Given the description of an element on the screen output the (x, y) to click on. 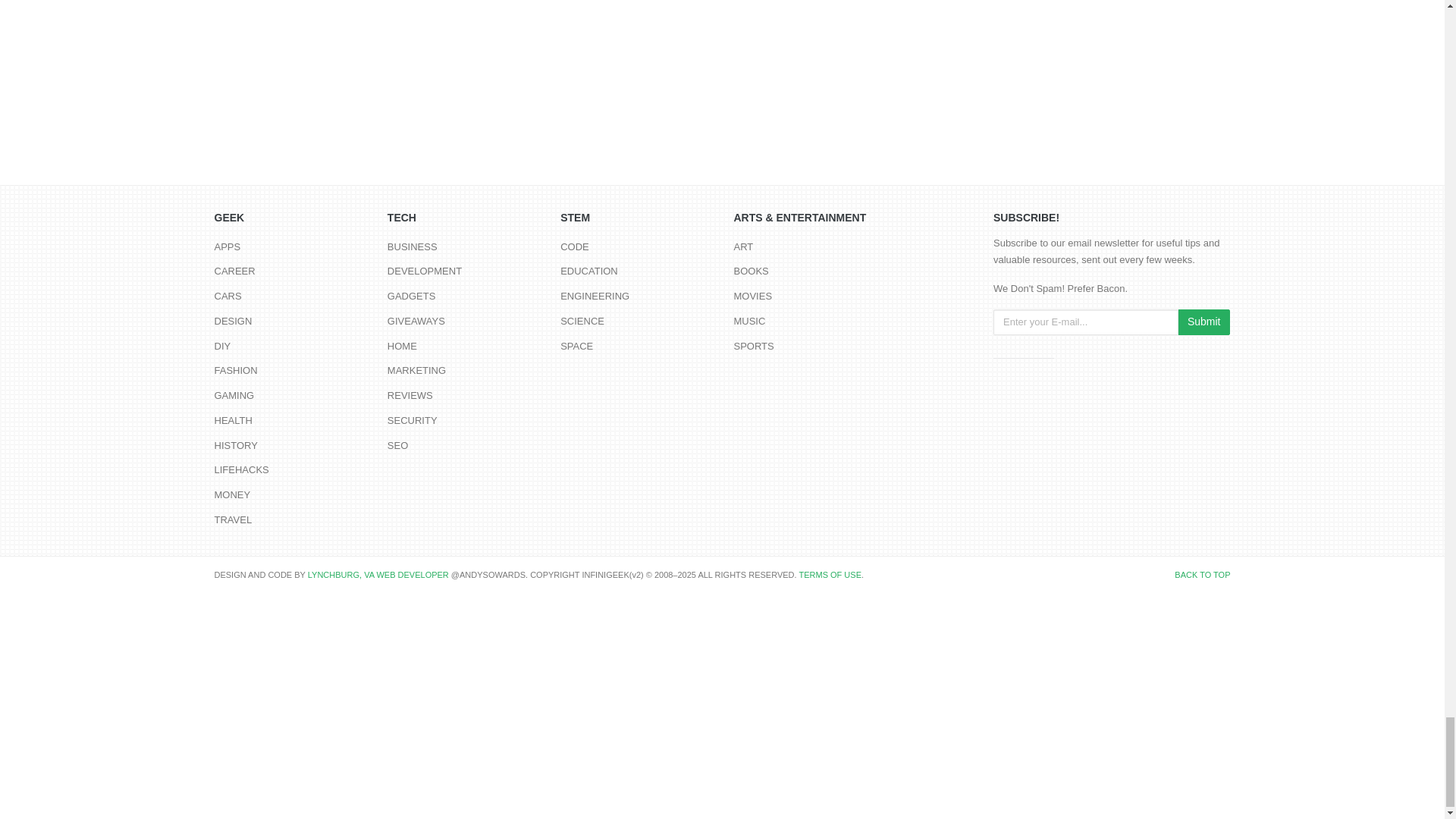
Submit (1203, 321)
